Given the description of an element on the screen output the (x, y) to click on. 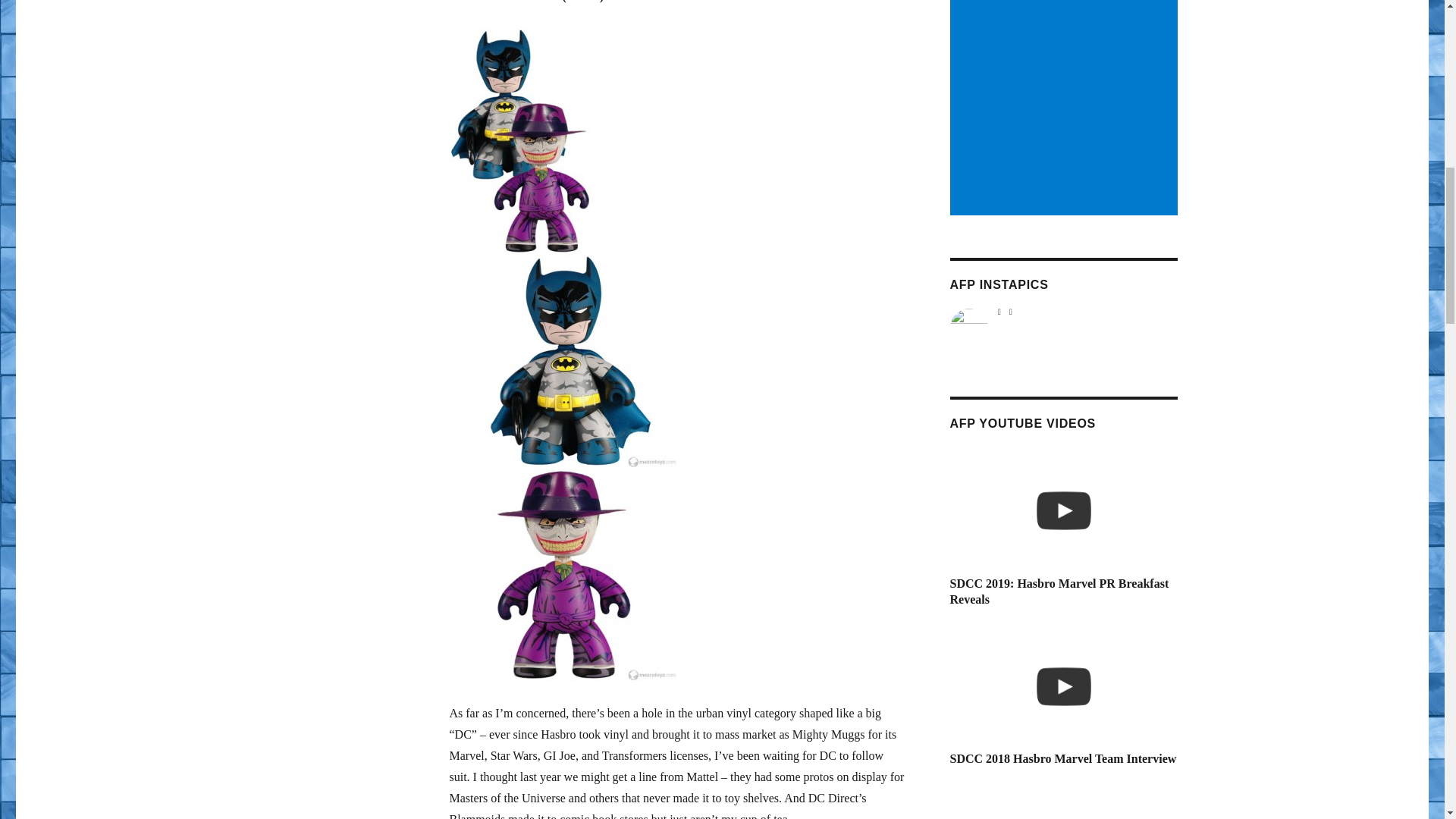
SDCC 2018 Hasbro Marvel Team Interview (1062, 687)
Teenage Mutant Ninja Turtles Action Vinyls -  (1062, 800)
Advertisement (1065, 108)
DC Universe Mez-Itz - Joker (562, 574)
SDCC 2019: Hasbro Marvel PR Breakfast Reveals (1062, 511)
DC Universe Mez-Itz - Batman (562, 361)
